Given the description of an element on the screen output the (x, y) to click on. 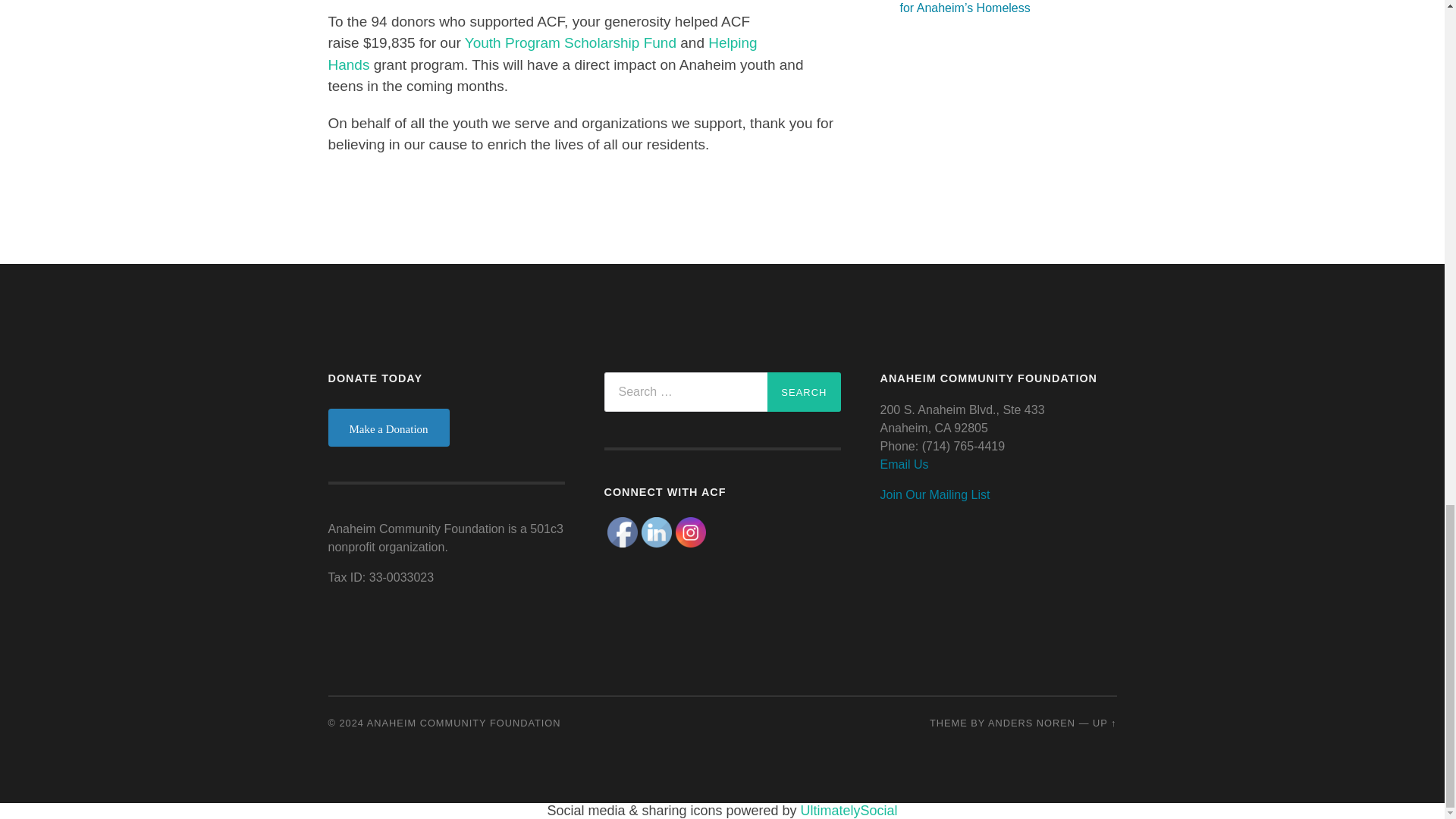
Facebook (622, 531)
Search (803, 391)
To the top (1104, 722)
Search (803, 391)
LinkedIn (656, 531)
Instagram (689, 531)
Youth Program Scholarship Fund (570, 42)
